Given the description of an element on the screen output the (x, y) to click on. 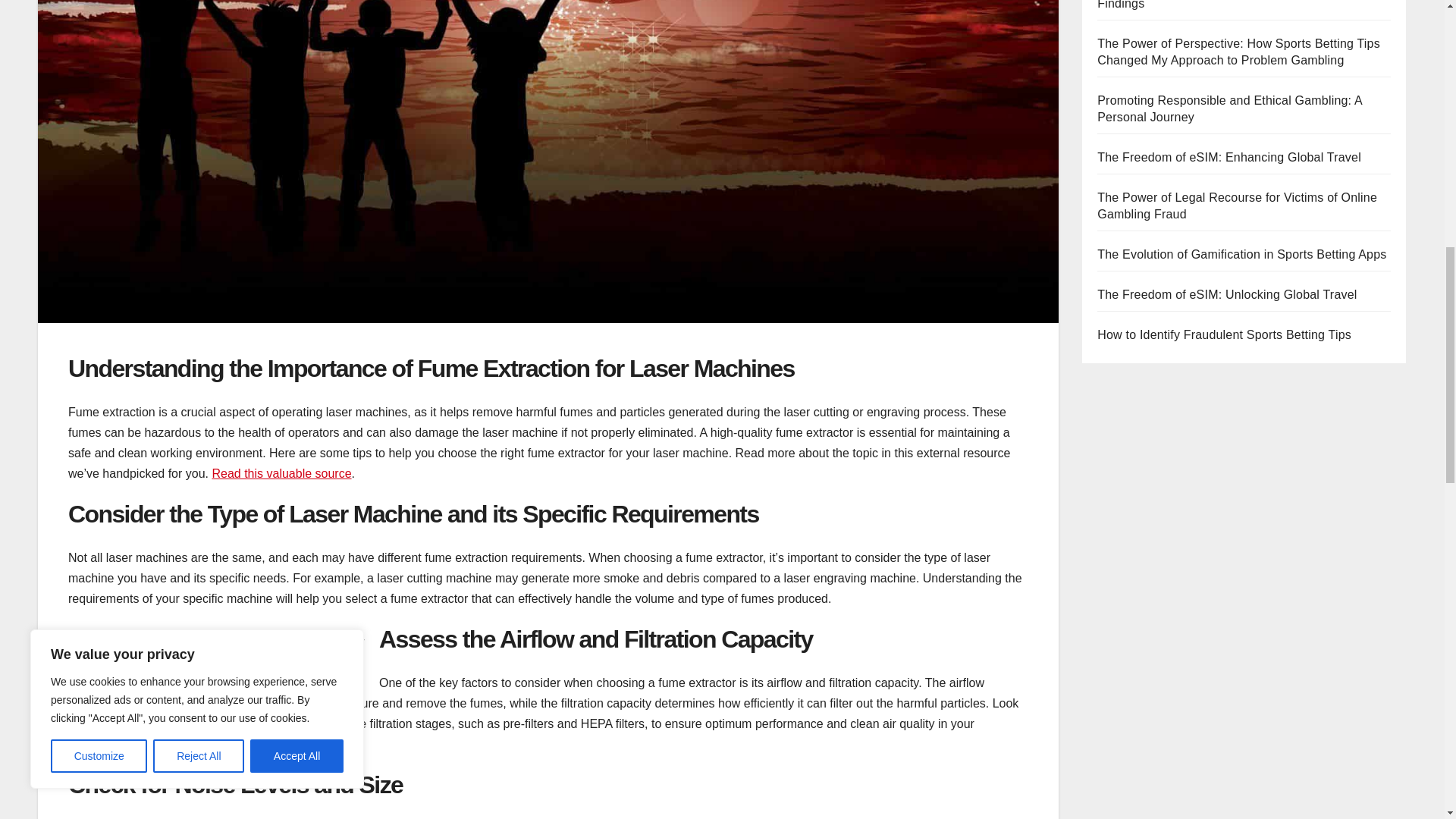
Read this valuable source (280, 472)
